Given the description of an element on the screen output the (x, y) to click on. 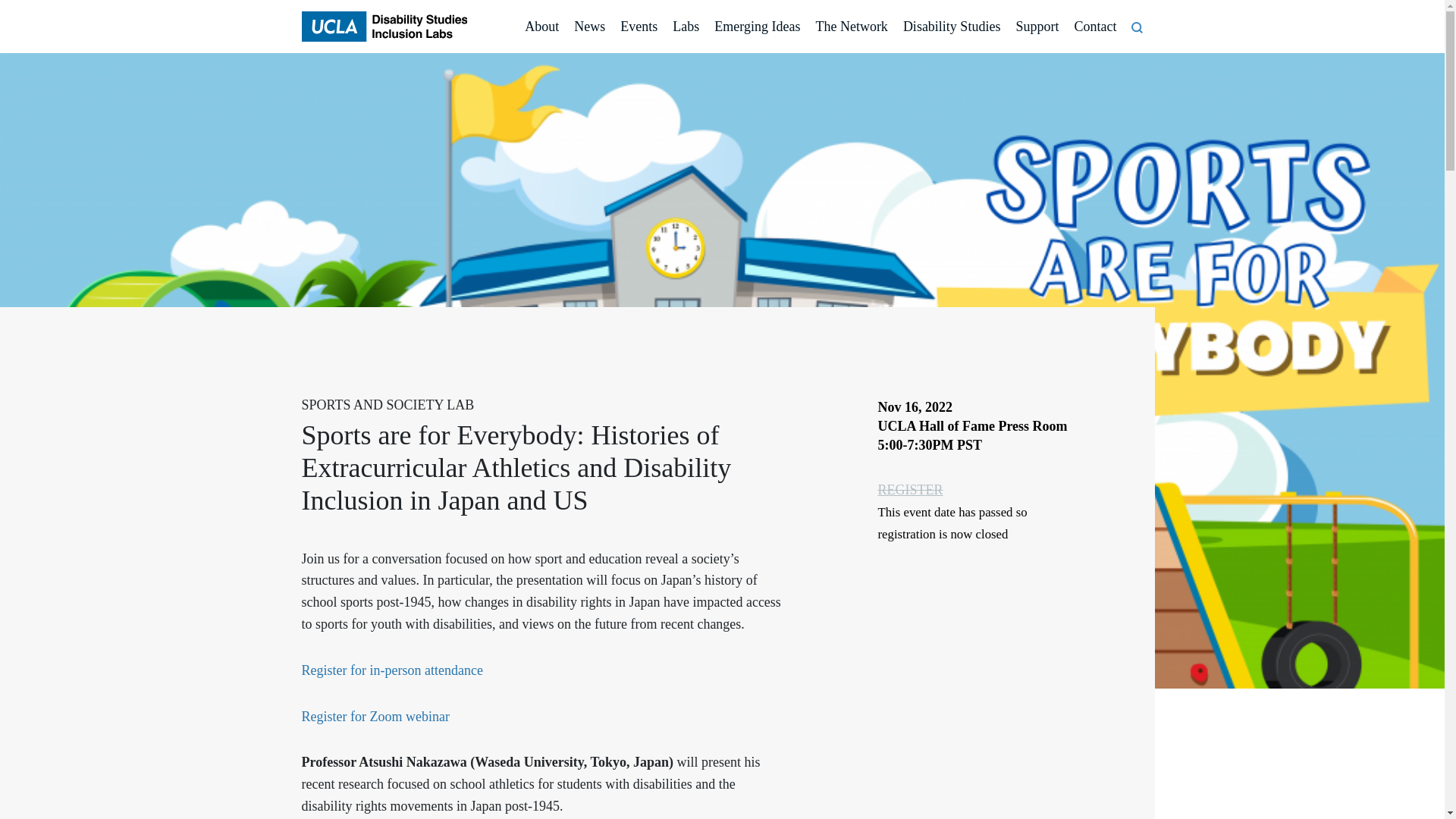
Home (384, 26)
Register for Zoom webinar (375, 716)
Labs (685, 26)
Register for in-person attendance (392, 670)
Events (639, 26)
News (589, 26)
Support (1036, 26)
The Network (850, 26)
Contact (1095, 26)
REGISTER (909, 489)
Emerging Ideas (756, 26)
About (541, 26)
Disability Studies (951, 26)
